Given the description of an element on the screen output the (x, y) to click on. 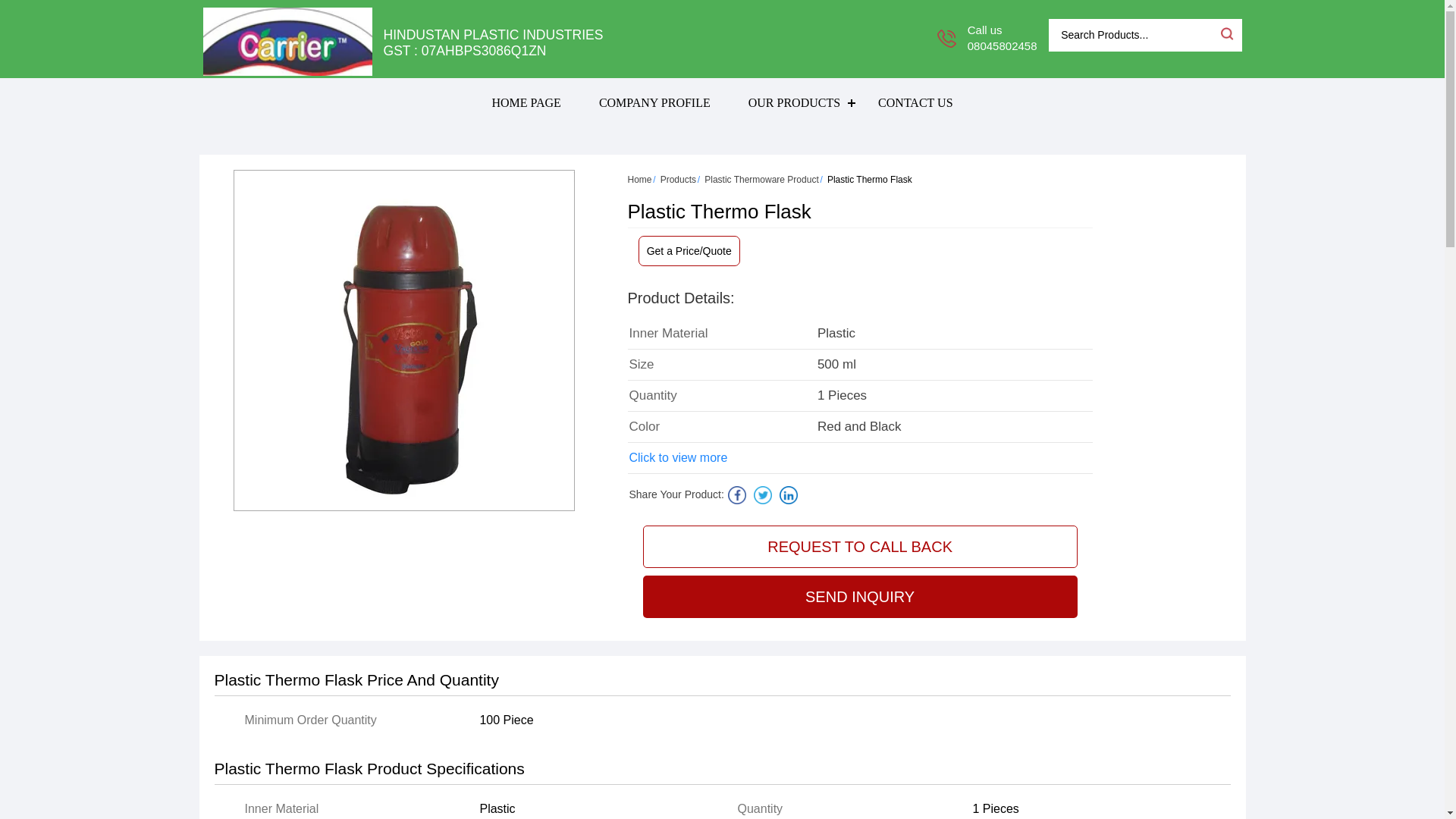
CONTACT US (915, 102)
Home (639, 179)
OUR PRODUCTS (794, 102)
Products (678, 179)
Search Products... (1133, 34)
REQUEST TO CALL BACK (860, 546)
HOME PAGE (525, 102)
Search Products... (1133, 34)
SEND INQUIRY (860, 596)
Click to view more (678, 457)
